Given the description of an element on the screen output the (x, y) to click on. 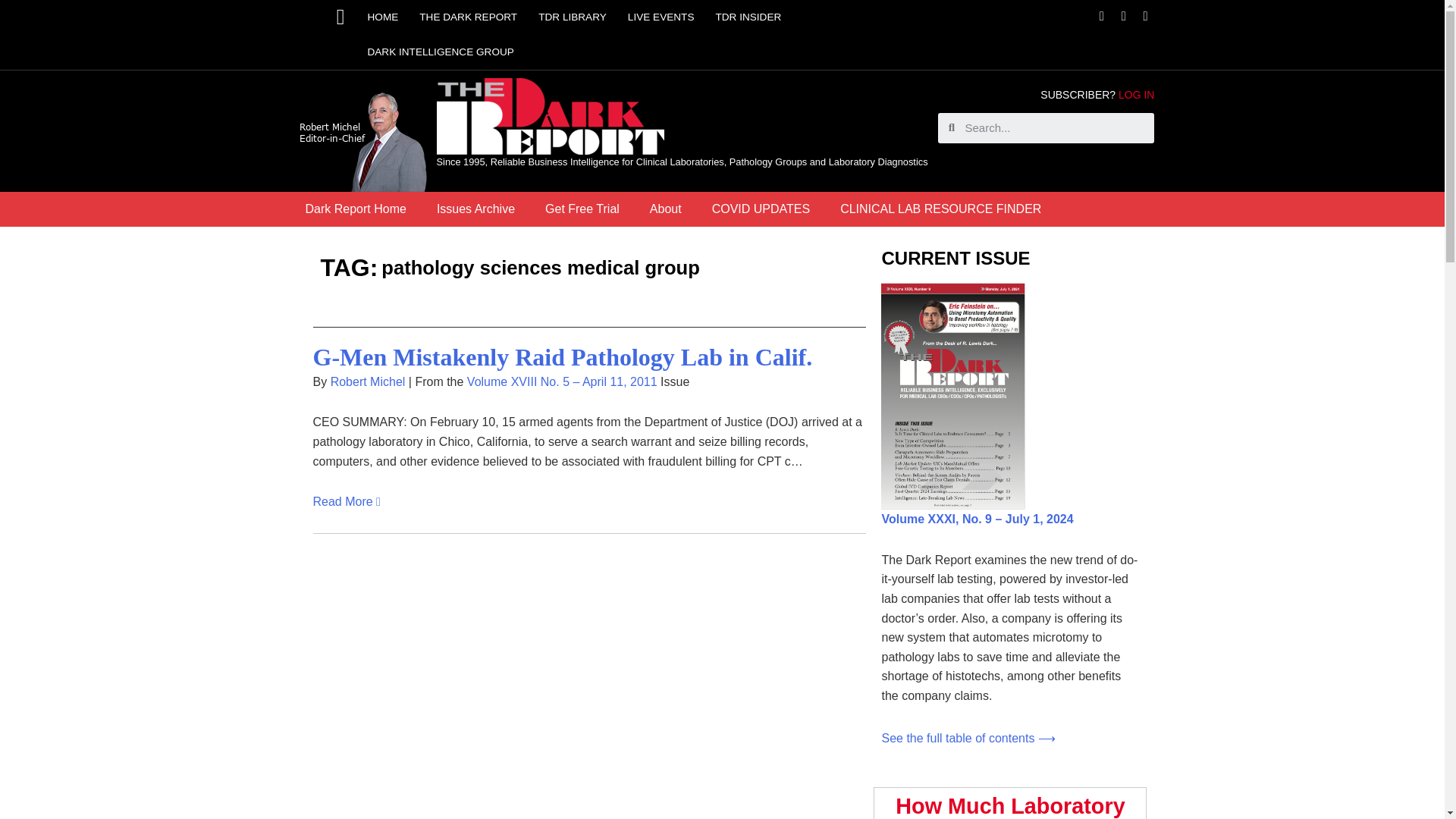
LIVE EVENTS (660, 17)
TDR LIBRARY (572, 17)
Twitter (1123, 16)
Facebook-f (1101, 16)
DARK INTELLIGENCE GROUP (440, 52)
About (665, 208)
View issue (976, 518)
COVID UPDATES (761, 208)
CLINICAL LAB RESOURCE FINDER (941, 208)
View issue (967, 738)
Issues Archive (475, 208)
Search (1054, 128)
Dark Report Home (354, 208)
LOG IN (1136, 94)
HOME (382, 17)
